Given the description of an element on the screen output the (x, y) to click on. 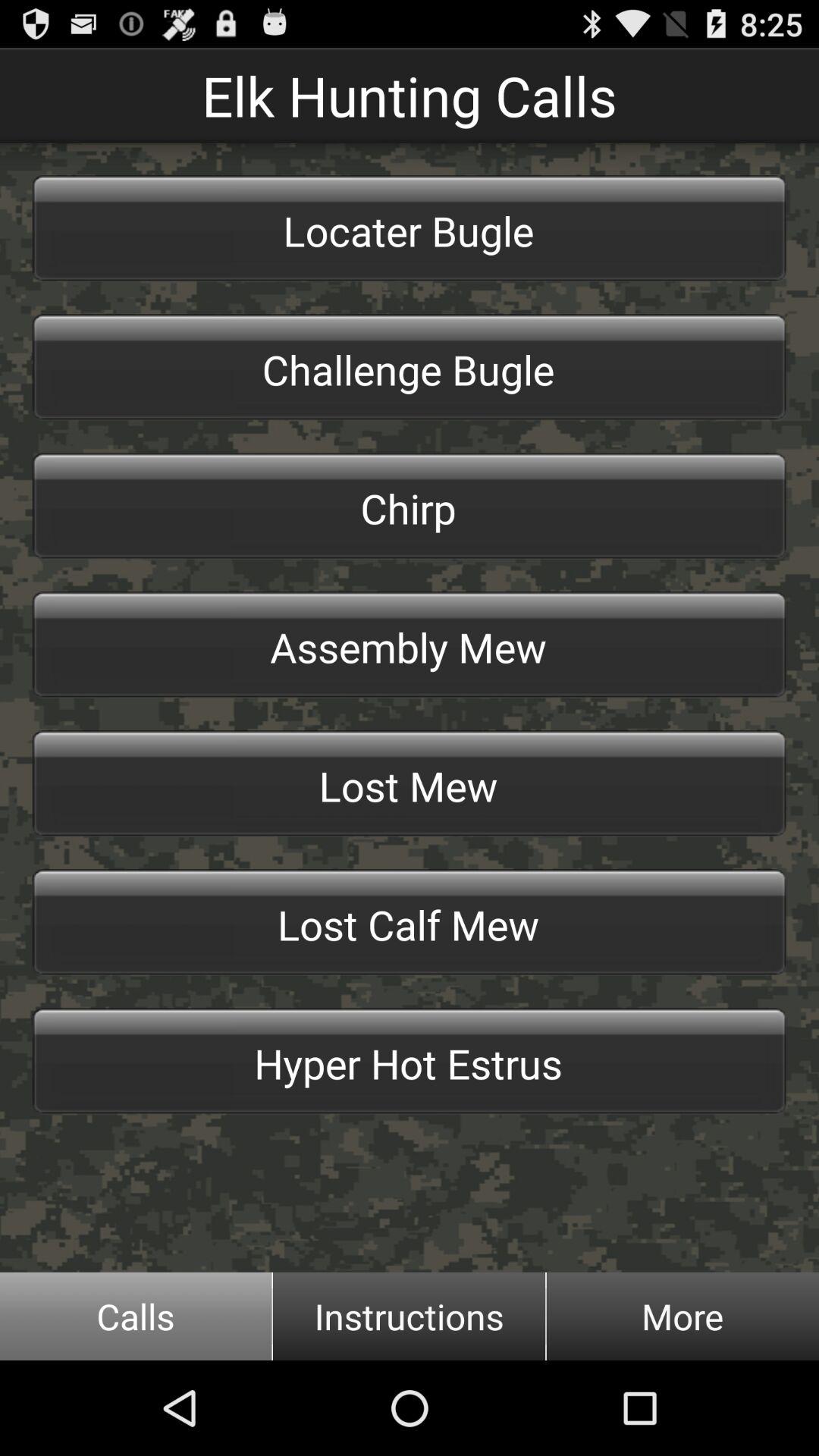
open the assembly mew (409, 644)
